Given the description of an element on the screen output the (x, y) to click on. 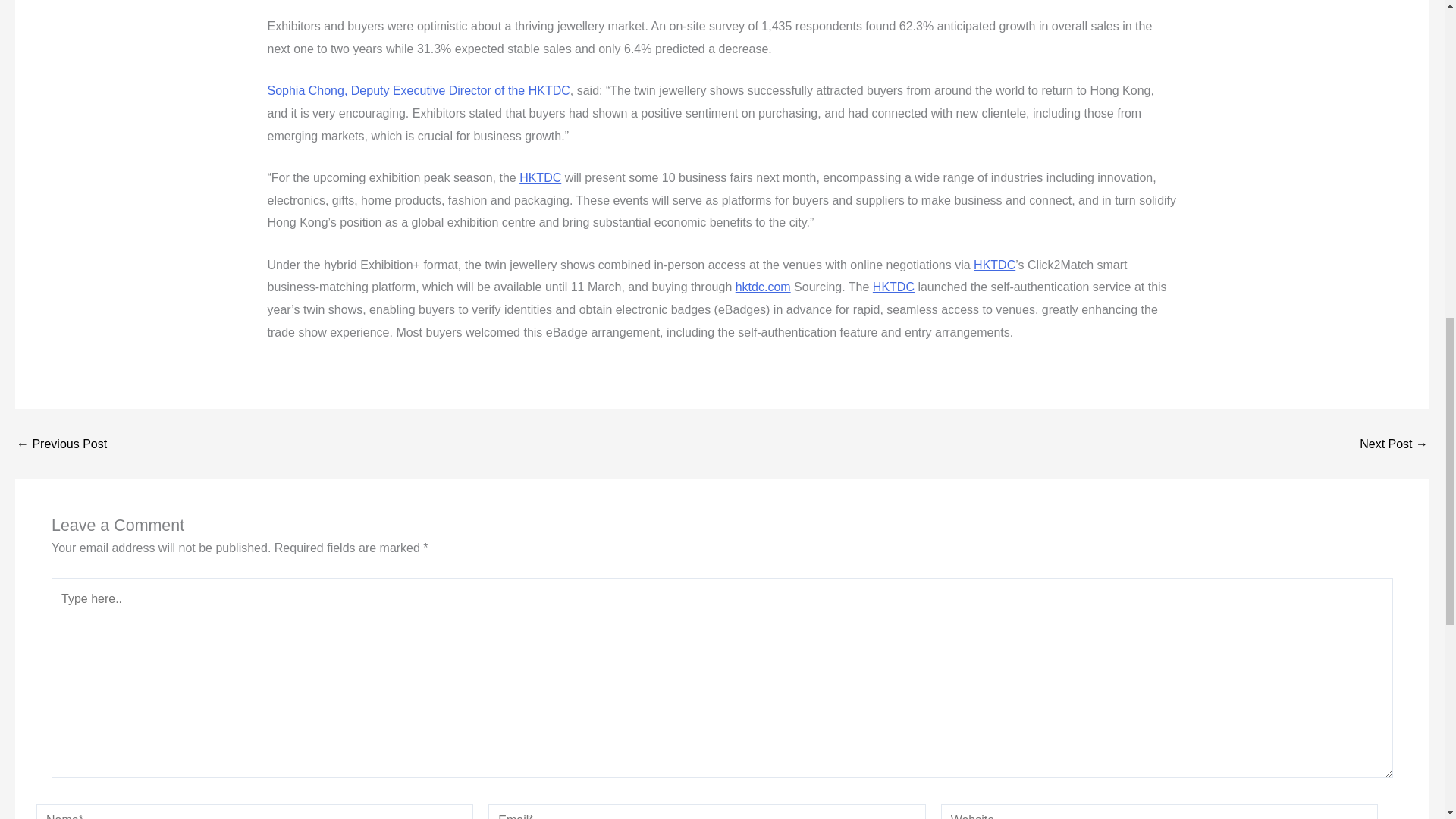
Tiffany greeted super bowl LVIII champions (1393, 444)
hktdc.com (762, 286)
The Tracr-Sarine collaboration announced! (61, 444)
HKTDC (893, 286)
Sophia Chong, Deputy Executive Director of the HKTDC (417, 90)
HKTDC (994, 264)
HKTDC (539, 177)
